Given the description of an element on the screen output the (x, y) to click on. 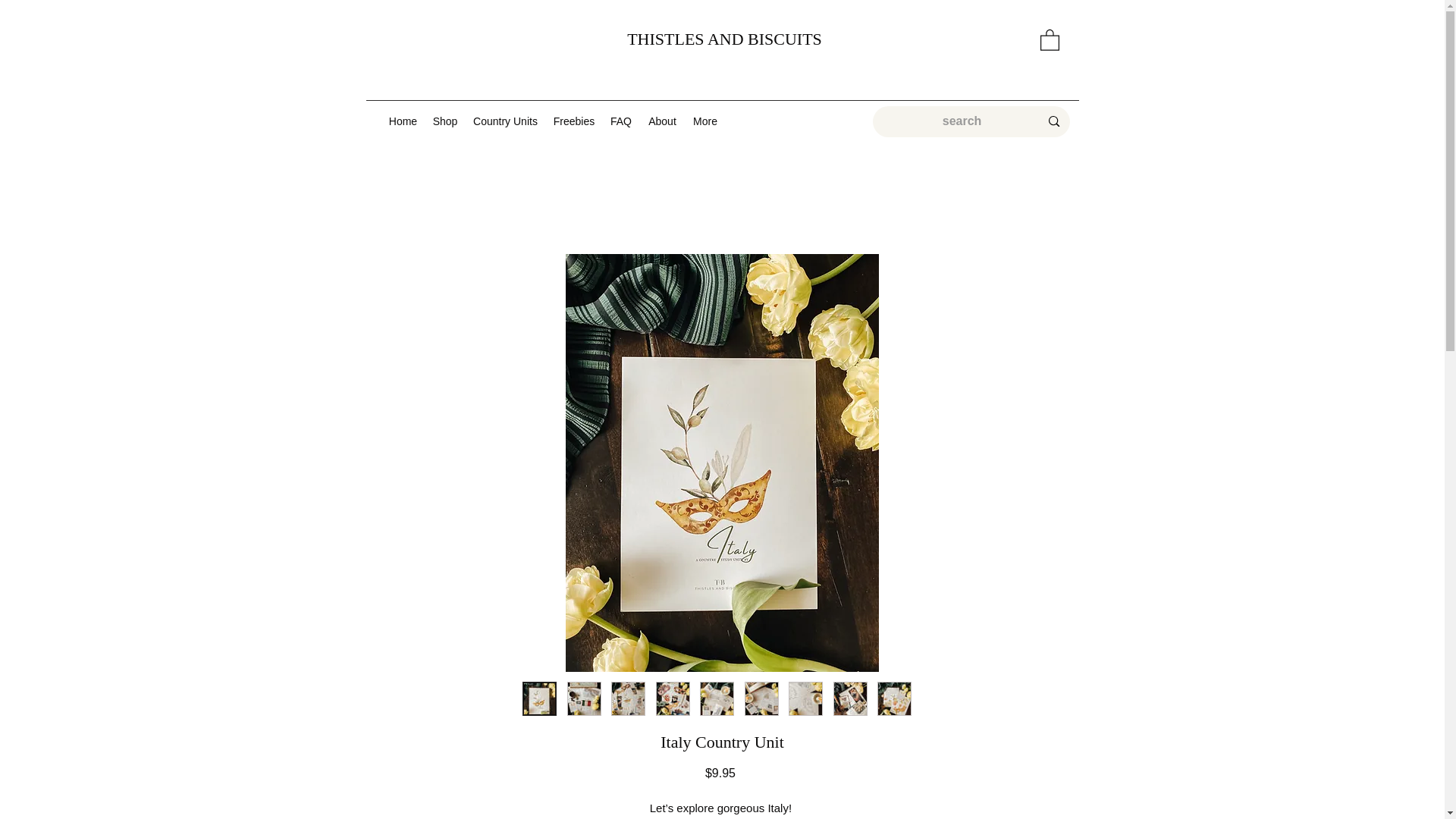
Home (402, 120)
About (662, 120)
Freebies (574, 120)
THISTLES AND BISCUITS (724, 38)
Country Units (505, 120)
Shop (444, 120)
FAQ (620, 120)
